Given the description of an element on the screen output the (x, y) to click on. 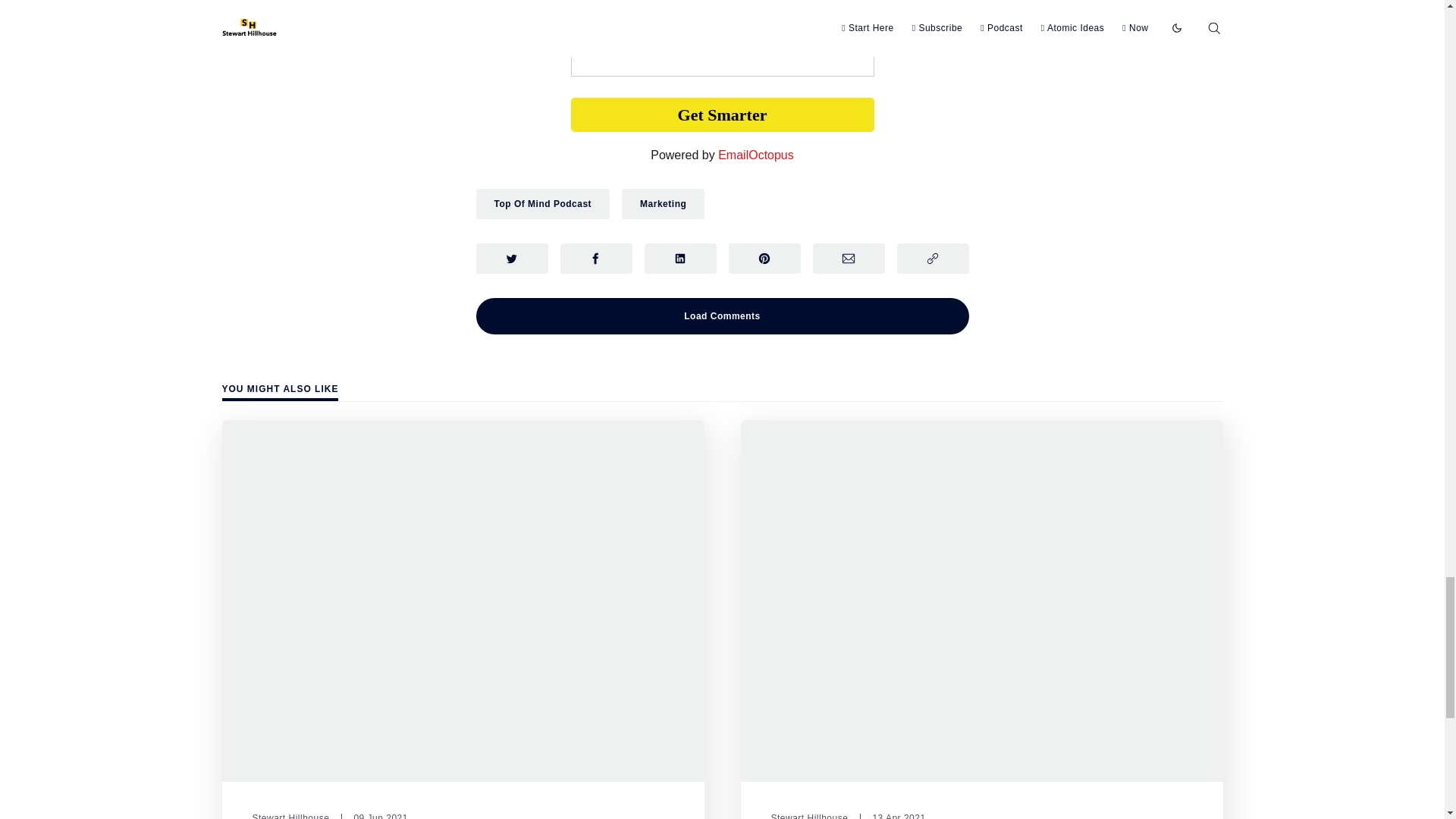
EmailOctopus (755, 154)
Marketing (662, 204)
Share on Pinterest (763, 258)
Share on Twitter (512, 258)
13 April 2021 (892, 816)
Share on Facebook (595, 258)
Load Comments (722, 316)
Stewart Hillhouse (290, 815)
Top Of Mind Podcast (543, 204)
Stewart Hillhouse (808, 815)
